Given the description of an element on the screen output the (x, y) to click on. 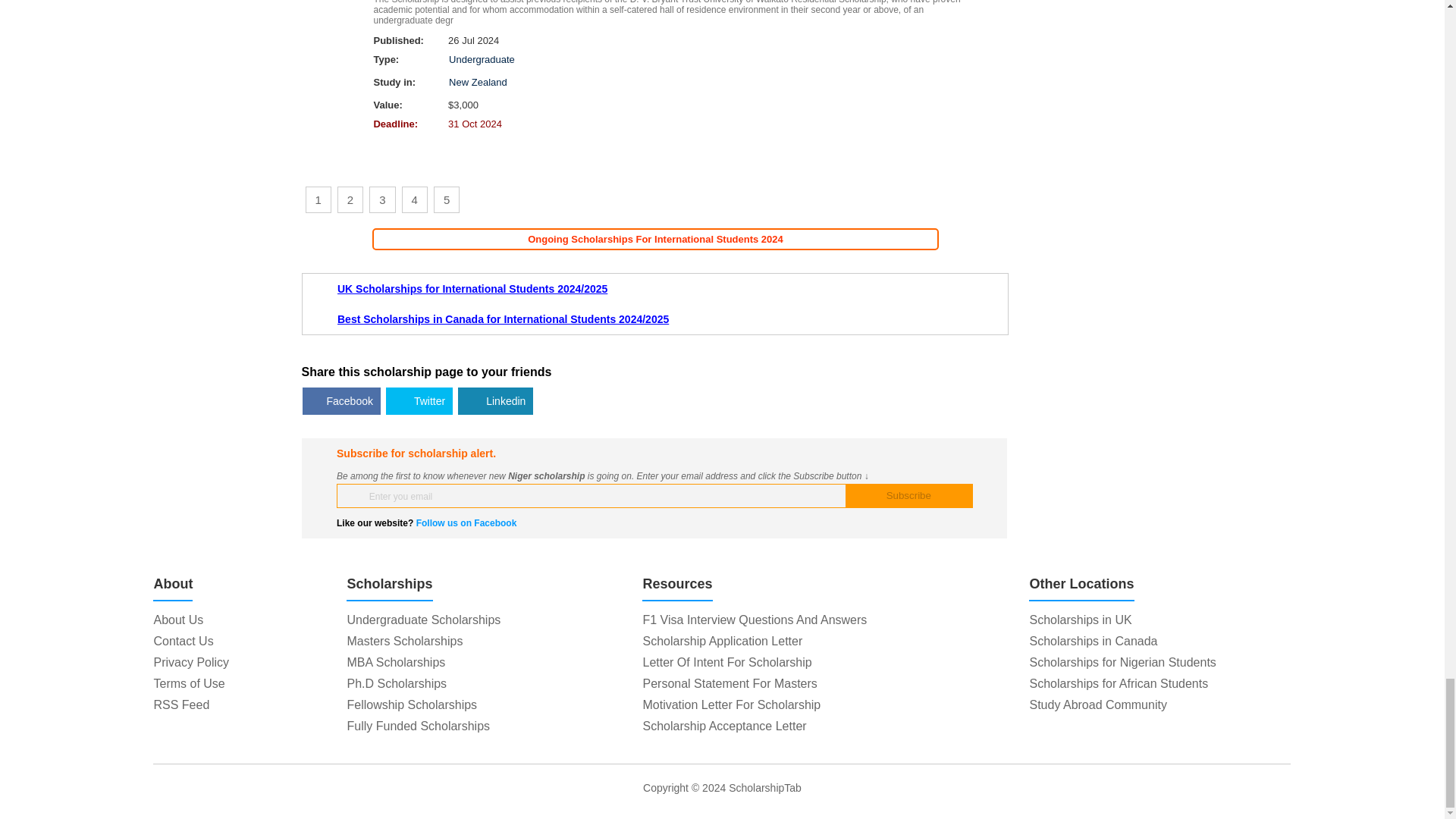
Share on Twitter  (418, 400)
Share on Linkedin (495, 400)
Share on Facebook (341, 400)
Subscribe (908, 495)
